Given the description of an element on the screen output the (x, y) to click on. 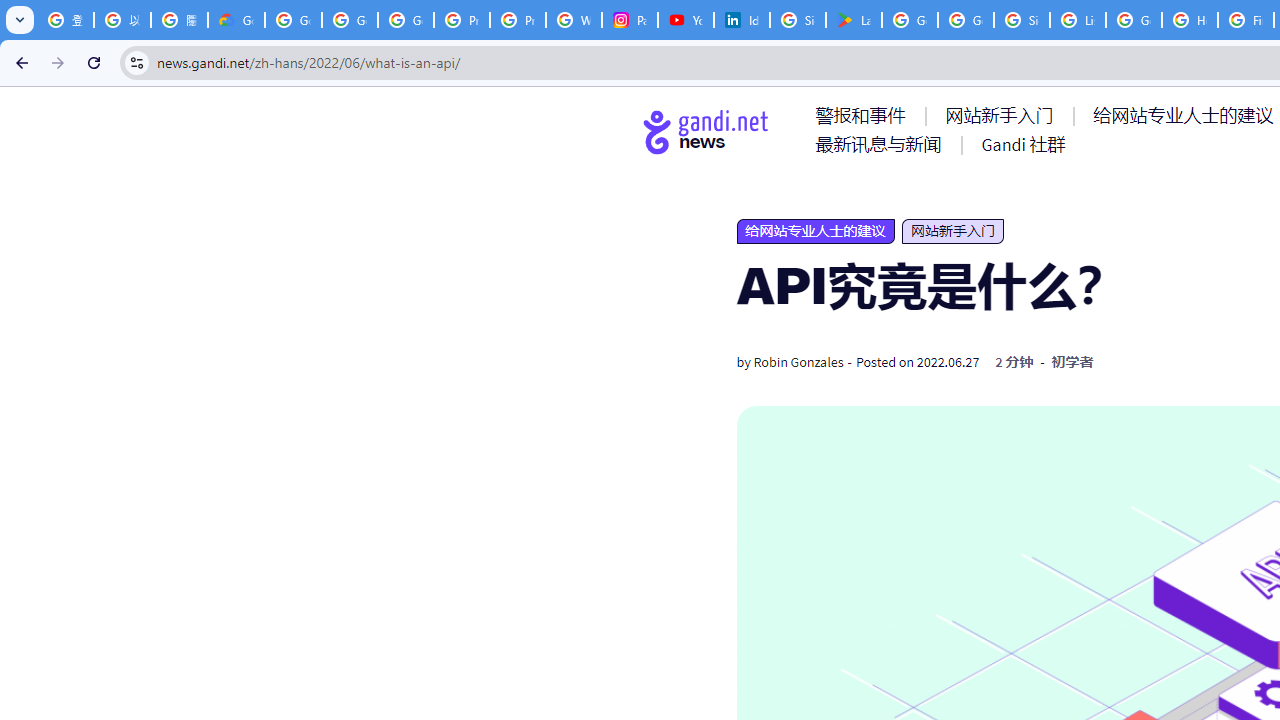
Last Shelter: Survival - Apps on Google Play (853, 20)
Privacy Help Center - Policies Help (518, 20)
YouTube Culture & Trends - On The Rise: Handcam Videos (685, 20)
Privacy Help Center - Policies Help (461, 20)
